Given the description of an element on the screen output the (x, y) to click on. 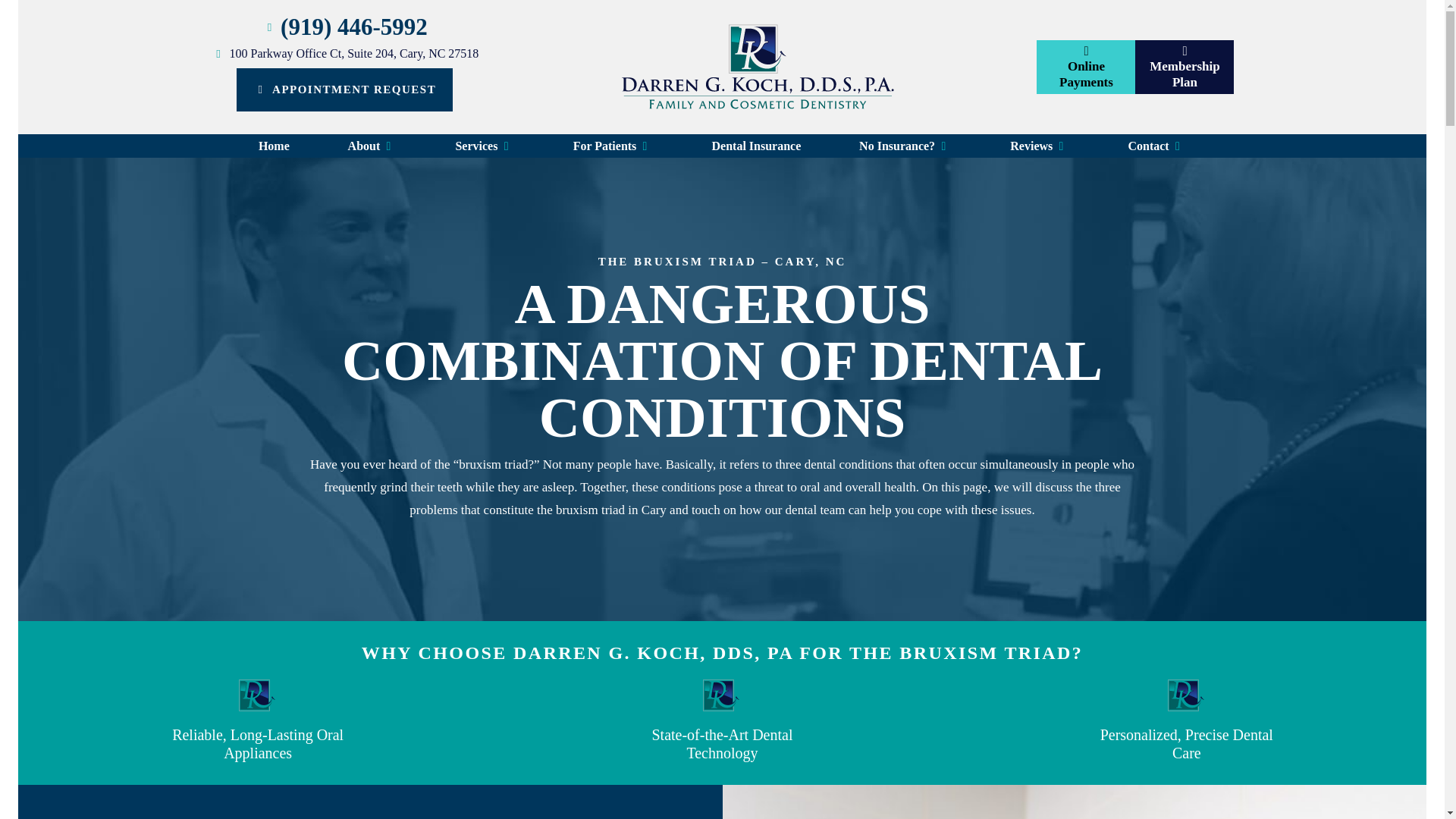
Home (273, 146)
APPOINTMENT REQUEST (343, 89)
About Us (372, 146)
About (372, 146)
100 Parkway Office Ct, Suite 204, Cary, NC 27518 (345, 52)
Membership Plan (1184, 67)
Online Payments (1086, 67)
Our Dental Services (484, 146)
Services (484, 146)
Dentist Cary, NC (273, 146)
